Given the description of an element on the screen output the (x, y) to click on. 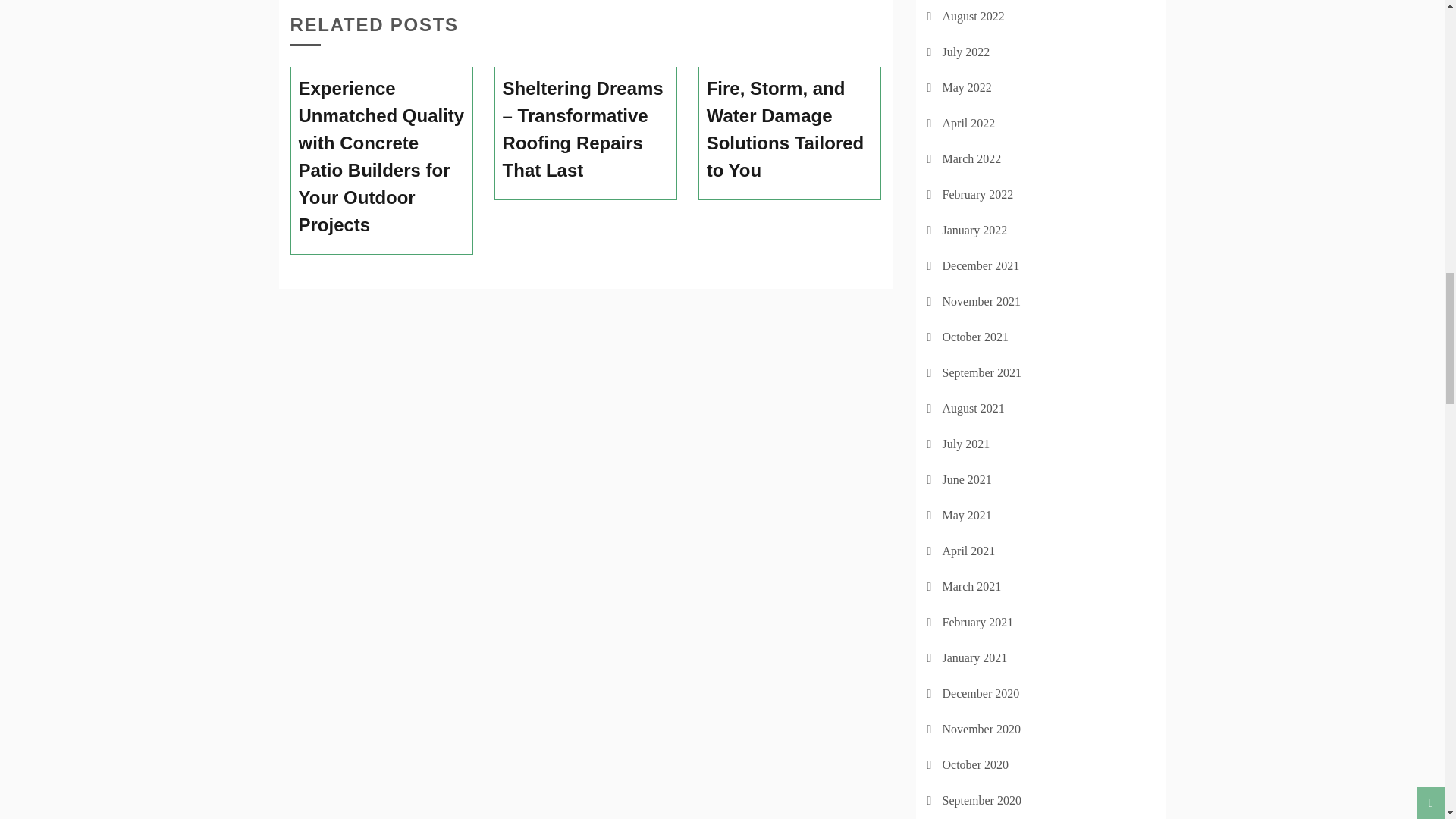
Fire, Storm, and Water Damage Solutions Tailored to You (789, 129)
